Given the description of an element on the screen output the (x, y) to click on. 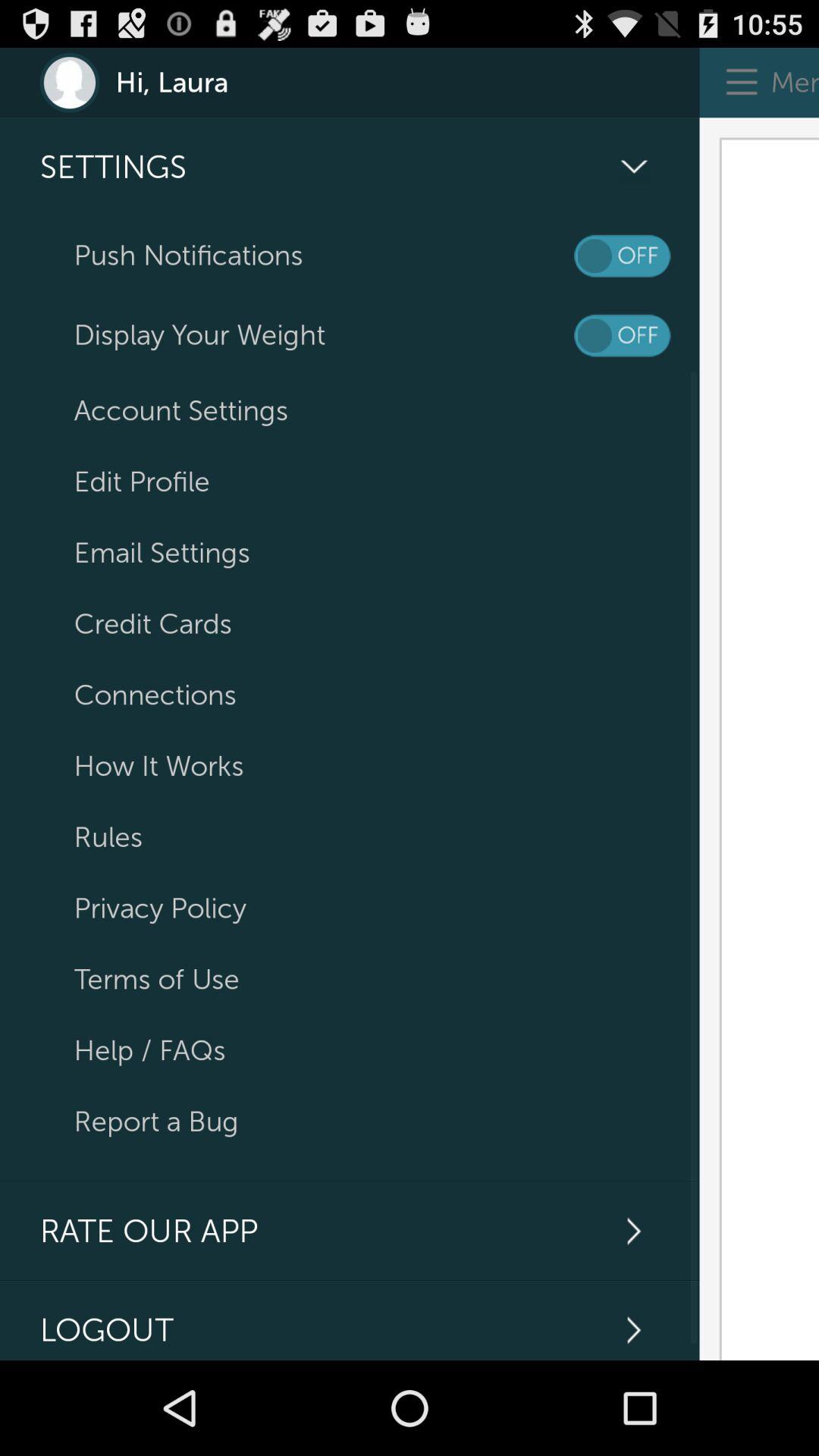
toggle weight display (622, 335)
